Given the description of an element on the screen output the (x, y) to click on. 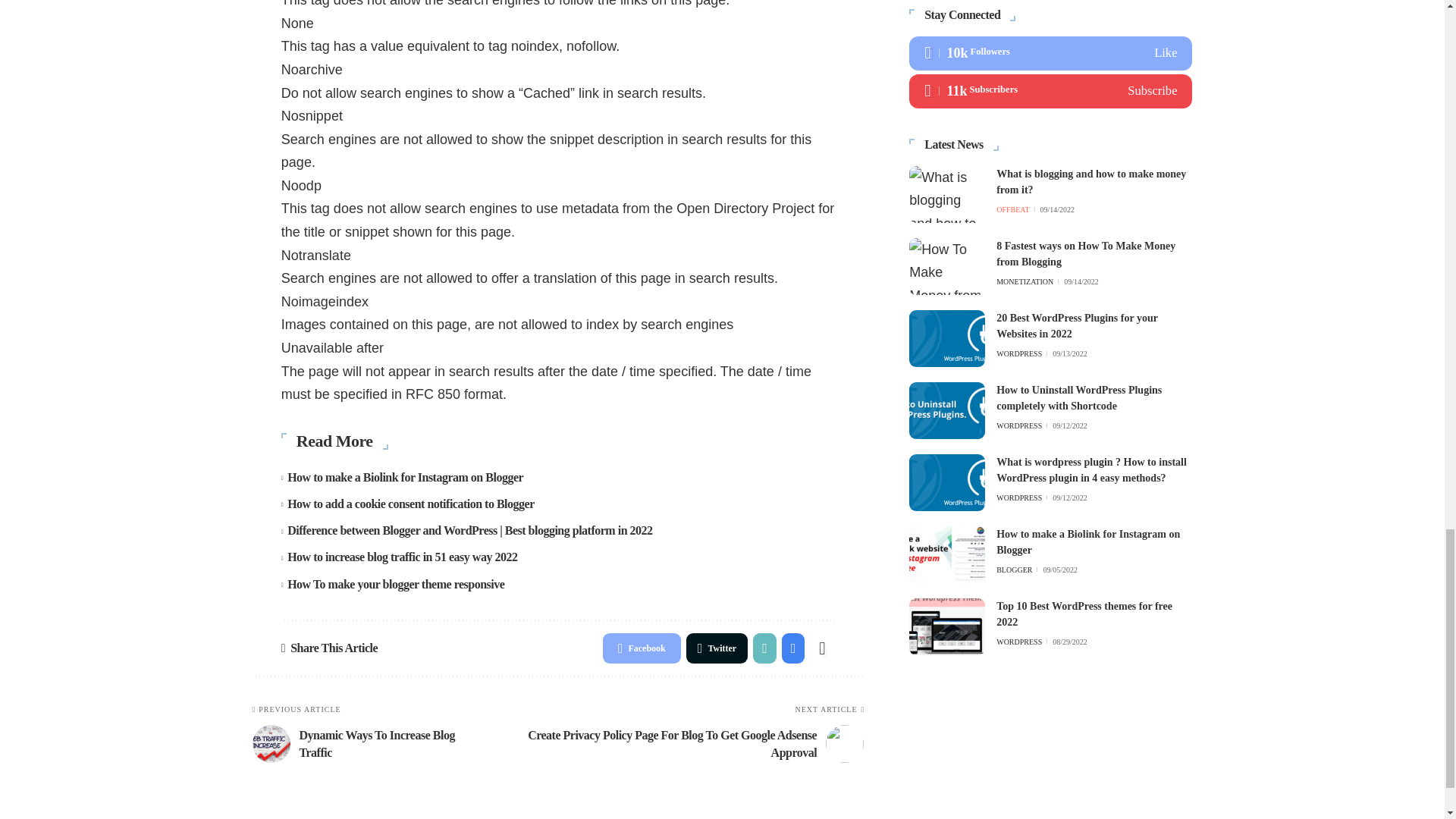
How to make a Biolink for Instagram on Blogger (404, 477)
How to add a cookie consent notification to Blogger (410, 503)
How to increase blog traffic in 51 easy way 2022 (401, 556)
How To make your blogger theme responsive (394, 584)
